Given the description of an element on the screen output the (x, y) to click on. 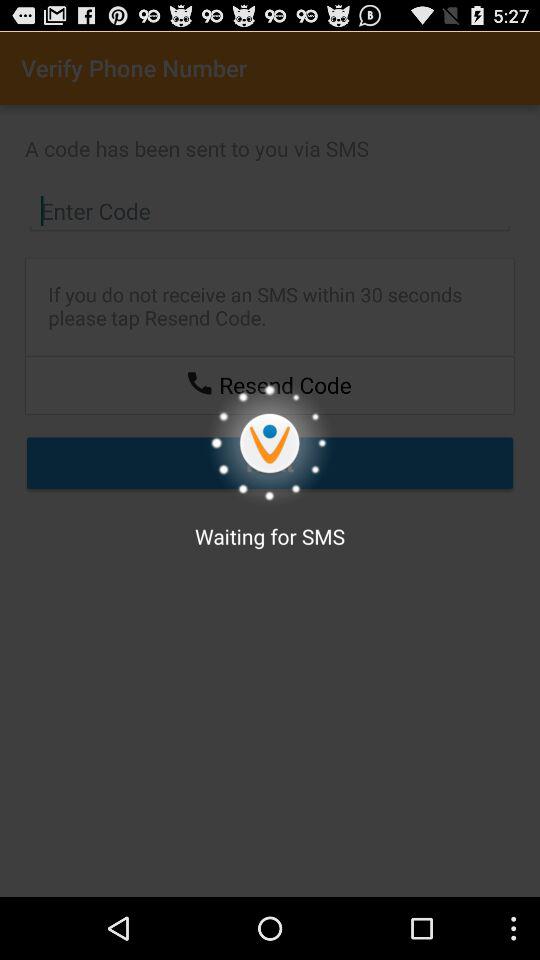
enter code (269, 211)
